Given the description of an element on the screen output the (x, y) to click on. 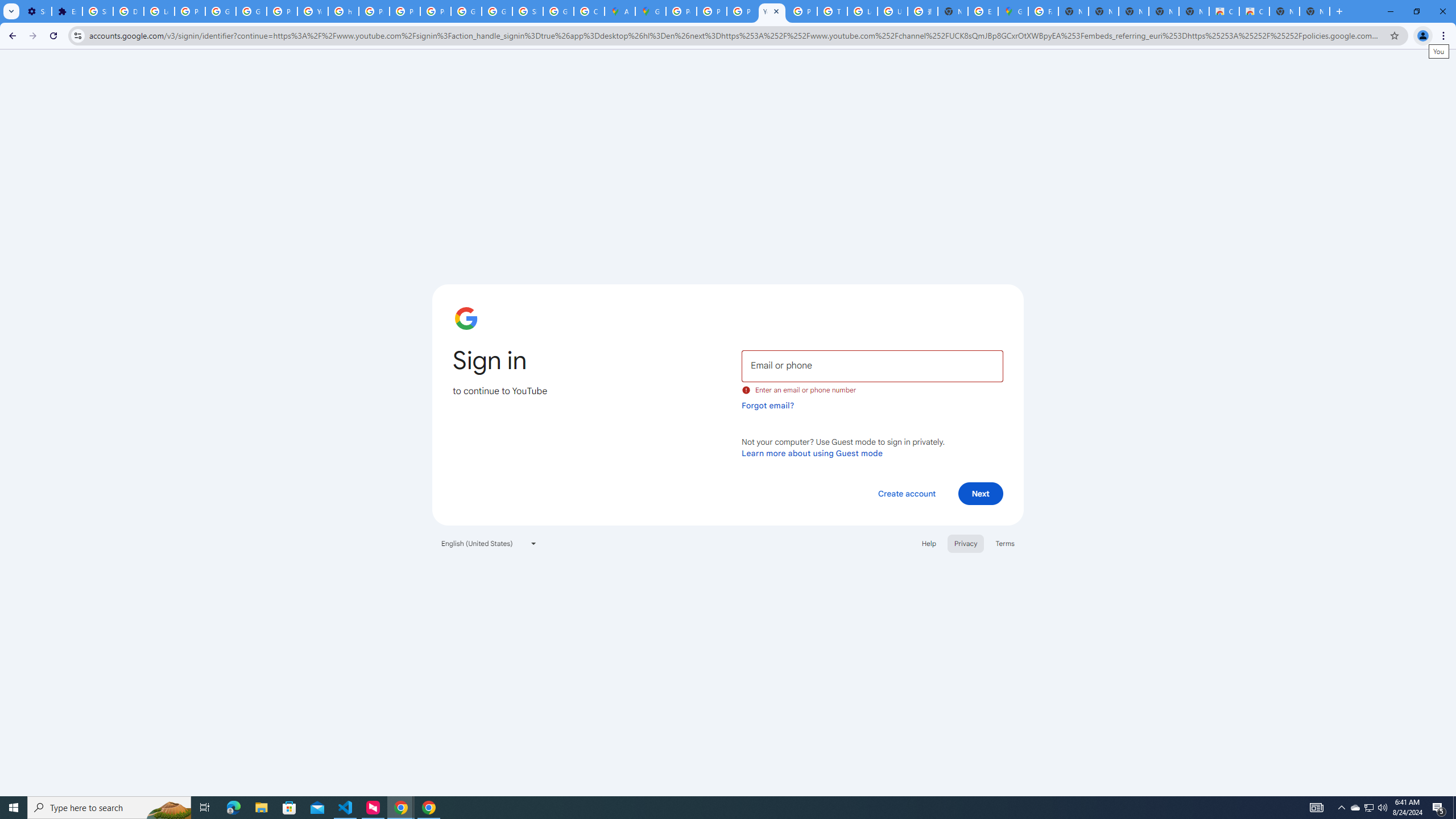
Google Maps (650, 11)
Classic Blue - Chrome Web Store (1254, 11)
YouTube (312, 11)
Next (980, 493)
